Given the description of an element on the screen output the (x, y) to click on. 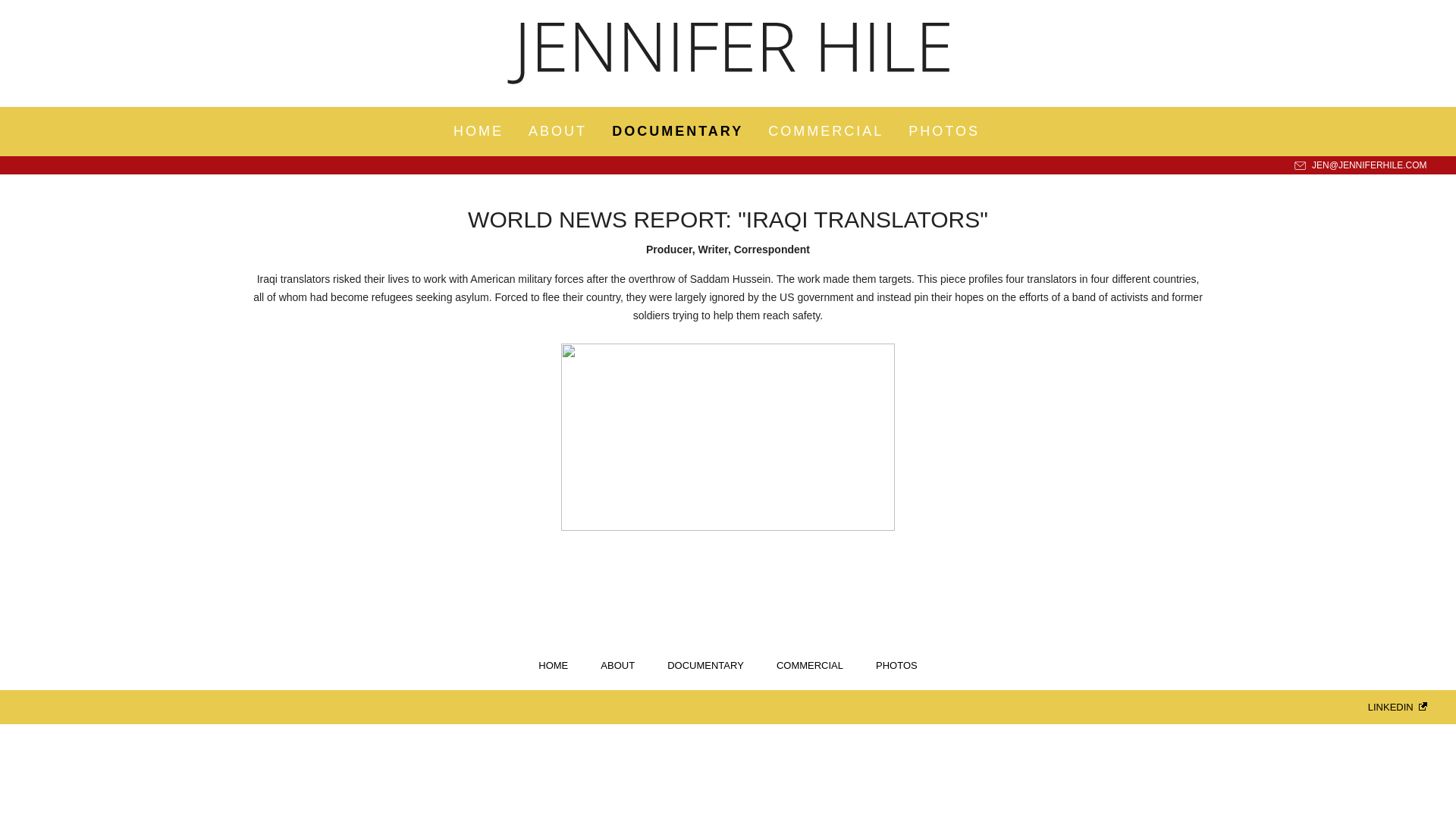
ABOUT (557, 130)
LINKEDIN (1391, 706)
DOCUMENTARY (676, 130)
COMMERCIAL (810, 665)
DOCUMENTARY (705, 665)
COMMERCIAL (825, 130)
ABOUT (617, 665)
HOME (552, 665)
PHOTOS (896, 665)
HOME (477, 130)
PHOTOS (943, 130)
